Given the description of an element on the screen output the (x, y) to click on. 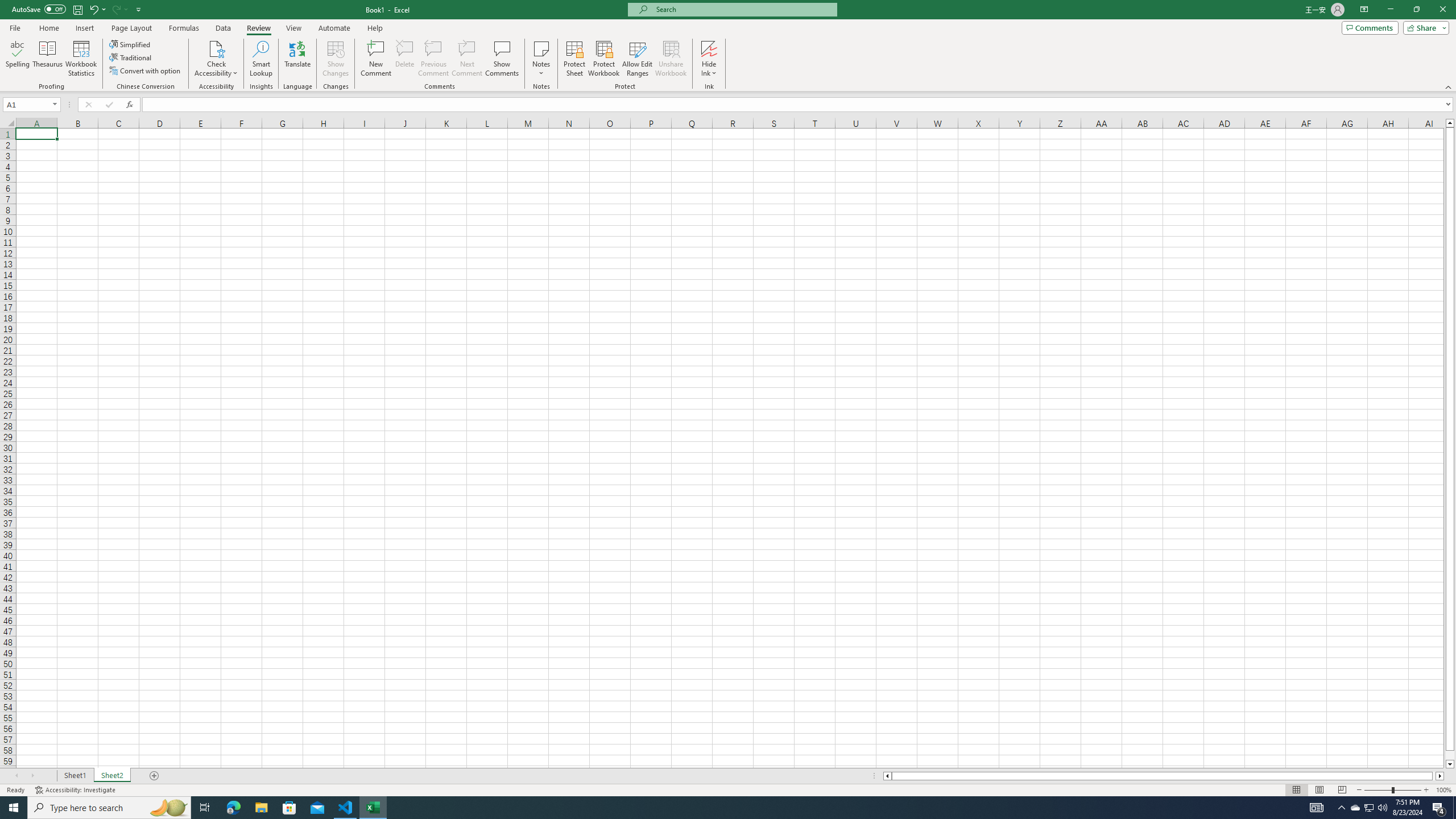
Protect Workbook... (603, 58)
Protect Sheet... (574, 58)
Smart Lookup (260, 58)
Thesaurus... (47, 58)
